Given the description of an element on the screen output the (x, y) to click on. 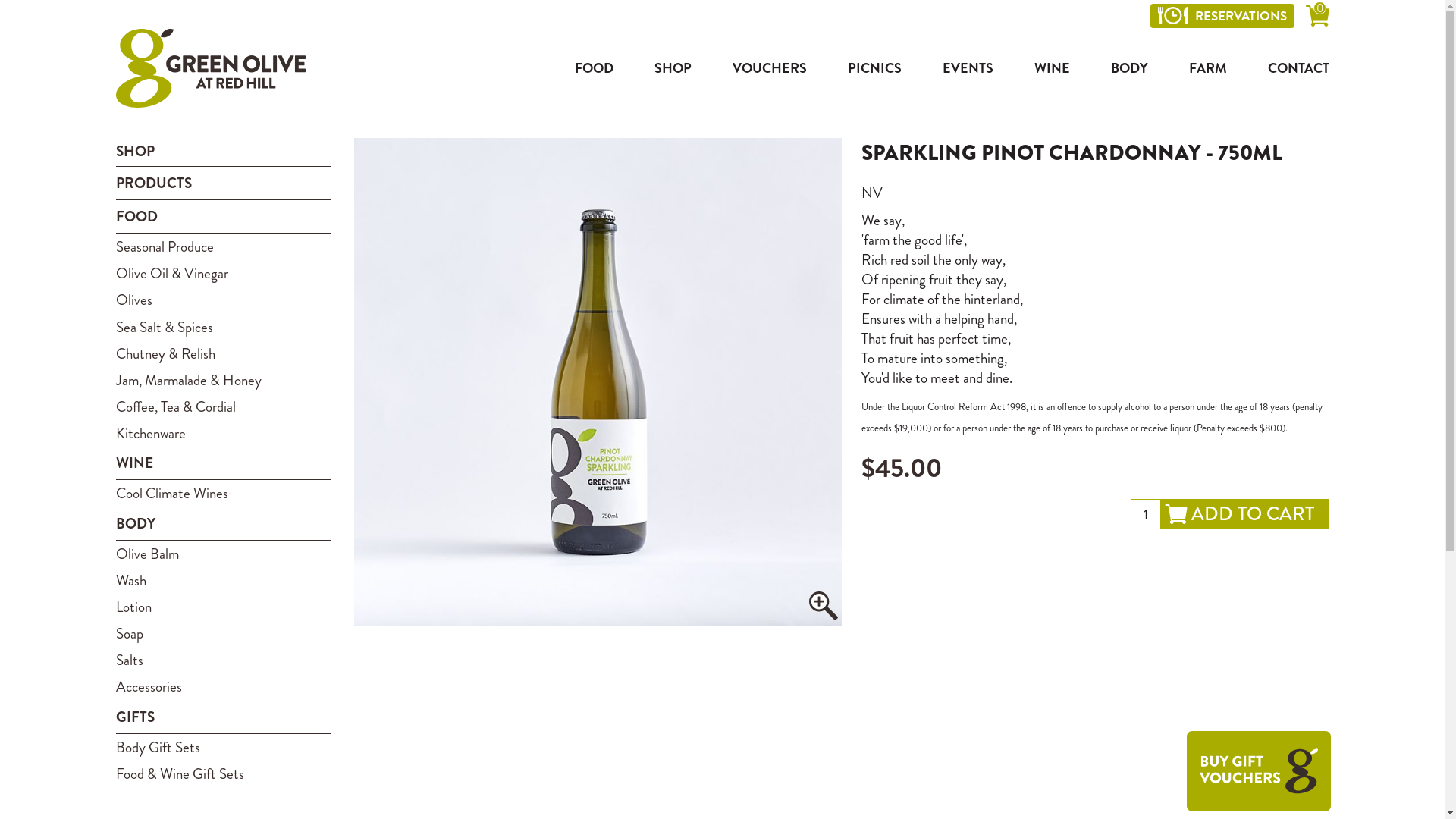
FOOD Element type: text (593, 68)
FARM Element type: text (1207, 68)
EVENTS Element type: text (966, 68)
WINE Element type: text (1052, 68)
VOUCHERS Element type: text (769, 68)
WINE Element type: text (223, 463)
Olive Balm Element type: text (223, 553)
Jam, Marmalade & Honey Element type: text (223, 380)
PICNICS Element type: text (874, 68)
Body Gift Sets Element type: text (223, 747)
Qty Element type: hover (1144, 513)
Kitchenware Element type: text (223, 433)
Coffee, Tea & Cordial Element type: text (223, 406)
PRODUCTS Element type: text (223, 183)
Sea Salt & Spices Element type: text (223, 326)
Soap Element type: text (223, 633)
Skip to the end of the images gallery Element type: text (353, 137)
ADD TO CART Element type: text (1244, 513)
BODY Element type: text (1128, 68)
0 Element type: text (1317, 18)
CONTACT Element type: text (1290, 68)
 Green Olive at Red Hill Element type: hover (209, 67)
Wash Element type: text (223, 580)
FOOD Element type: text (223, 216)
Salts Element type: text (223, 659)
Seasonal Produce Element type: text (223, 246)
Zoom Element type: text (823, 605)
Skip to the beginning of the images gallery Element type: text (353, 636)
RESERVATIONS Element type: text (1221, 15)
Food & Wine Gift Sets Element type: text (223, 773)
SHOP Element type: text (672, 68)
Olives Element type: text (223, 299)
GIFTS Element type: text (223, 717)
Olive Oil & Vinegar Element type: text (223, 273)
Chutney & Relish Element type: text (223, 353)
BODY Element type: text (223, 523)
Cool Climate Wines Element type: text (223, 493)
Lotion Element type: text (223, 606)
Accessories Element type: text (223, 686)
